Given the description of an element on the screen output the (x, y) to click on. 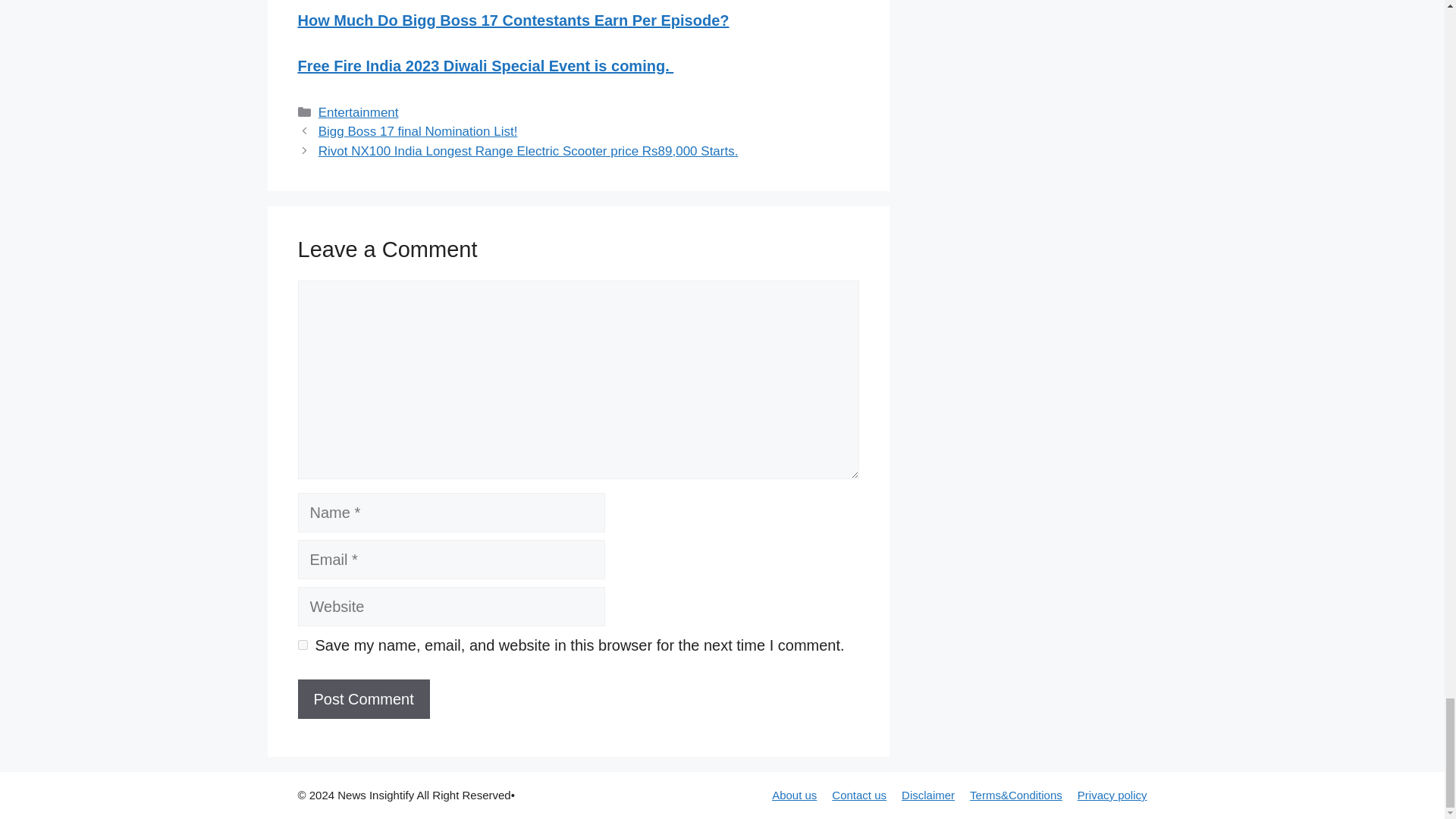
About us (793, 794)
Entertainment (358, 112)
Contact us (858, 794)
Post Comment (363, 699)
yes (302, 644)
How Much Do Bigg Boss 17 Contestants Earn Per Episode? (513, 20)
Free Fire India 2023 Diwali Special Event is coming.  (484, 65)
Bigg Boss 17 final Nomination List! (418, 131)
Disclaimer (928, 794)
Post Comment (363, 699)
